Given the description of an element on the screen output the (x, y) to click on. 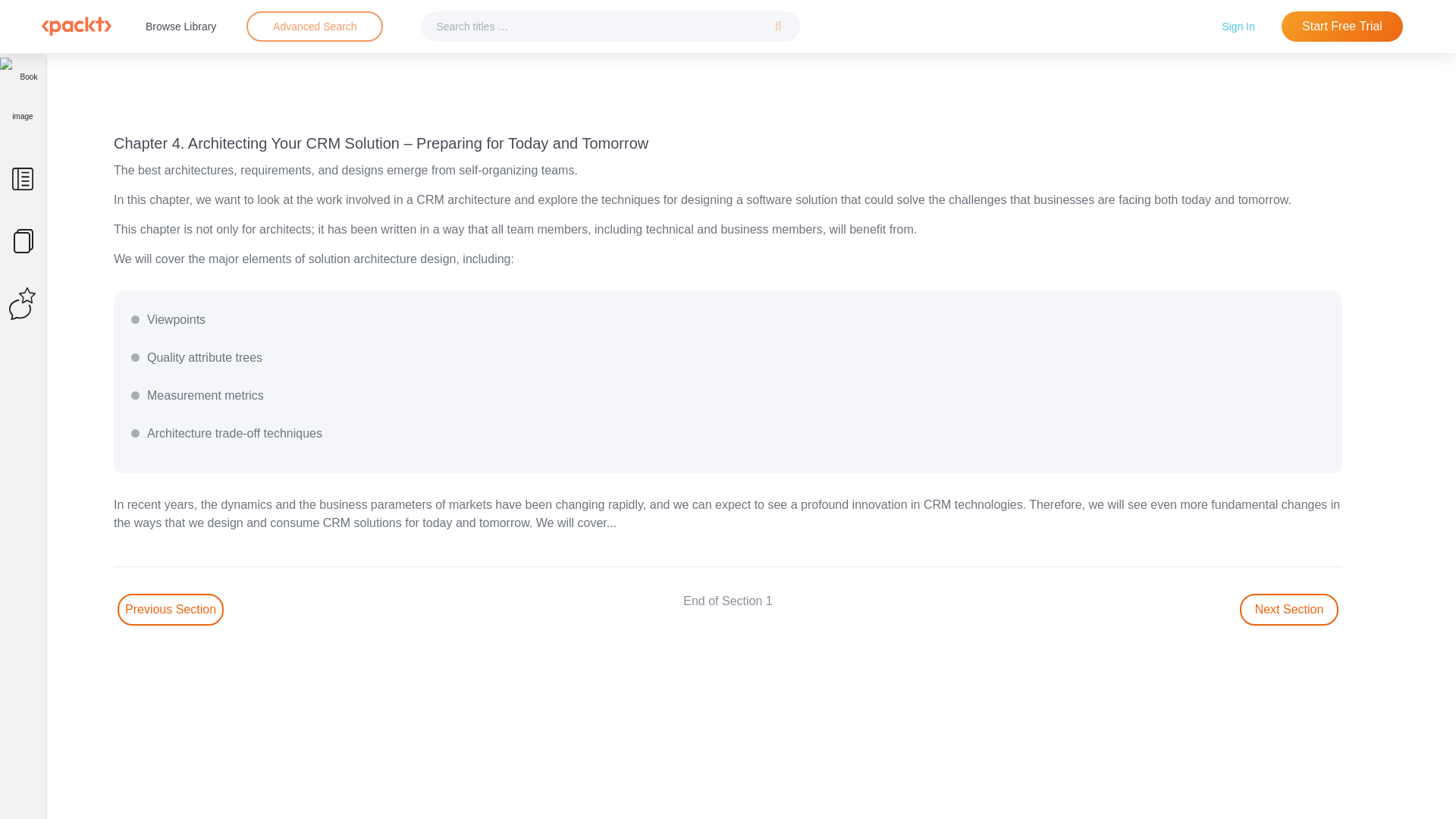
Sign In (1238, 26)
Advanced Search (315, 26)
Start Free Trial (1342, 26)
Advanced search (314, 26)
Go to next section (1289, 609)
Advanced Search (314, 26)
Browse Library (180, 26)
Go to Previous section (170, 609)
